Given the description of an element on the screen output the (x, y) to click on. 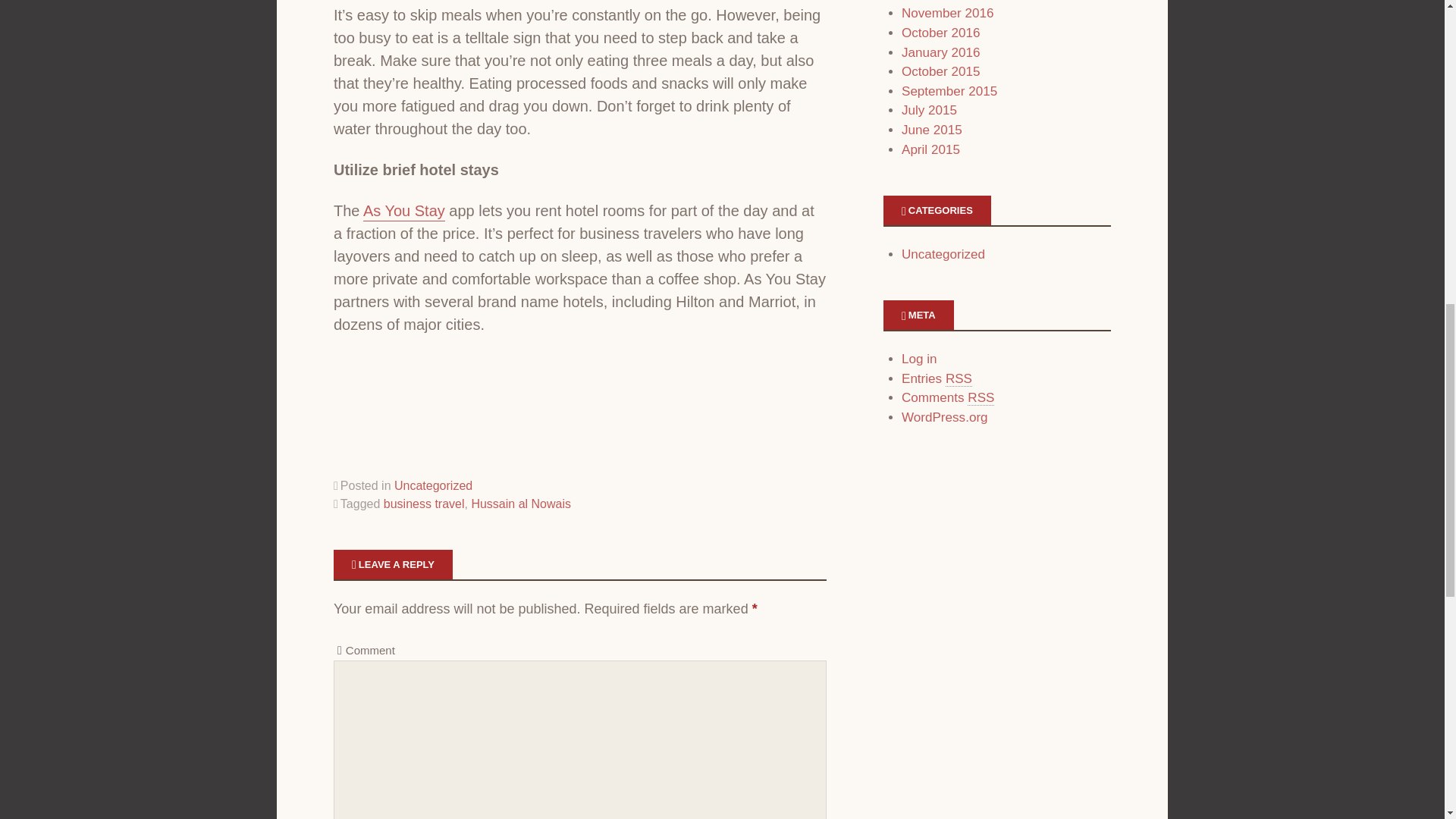
December 2016 (947, 0)
business travel (424, 503)
October 2015 (940, 71)
Really Simple Syndication (981, 397)
September 2015 (949, 91)
October 2016 (940, 32)
July 2015 (928, 110)
November 2016 (947, 12)
January 2016 (940, 52)
